Given the description of an element on the screen output the (x, y) to click on. 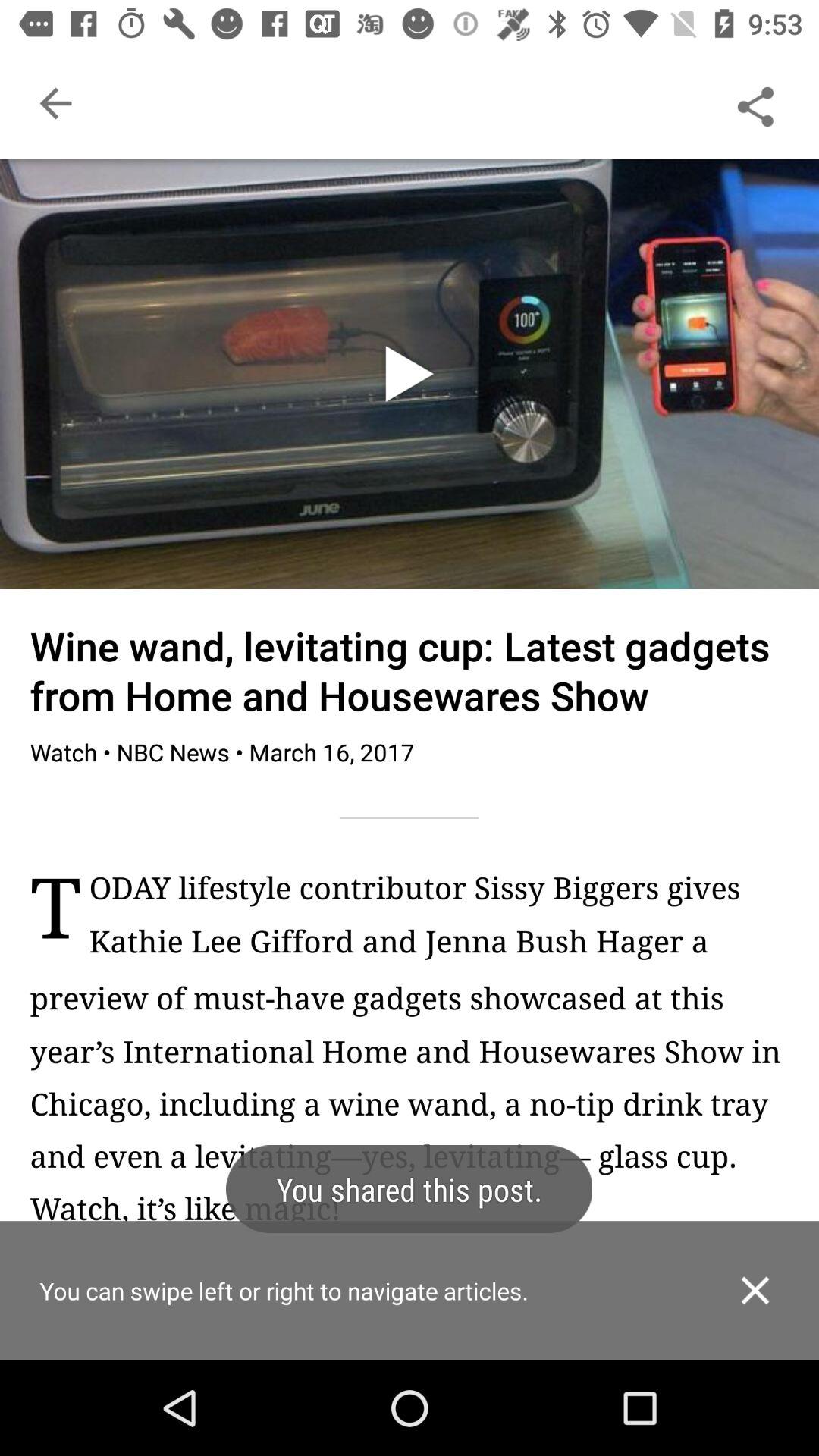
search (755, 103)
